Given the description of an element on the screen output the (x, y) to click on. 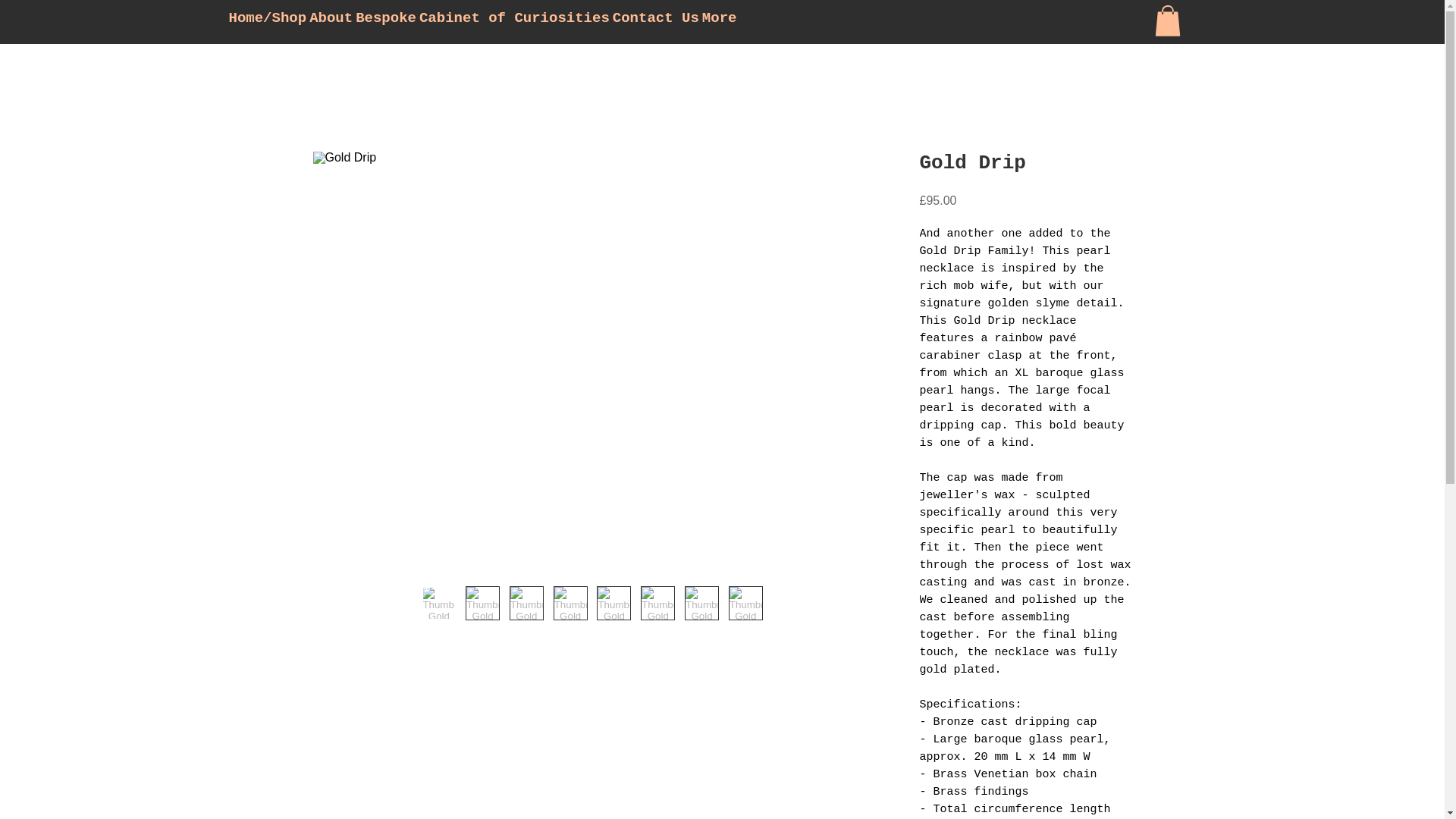
Cabinet of Curiosities (514, 22)
About (330, 22)
Bespoke (385, 22)
Contact Us (655, 22)
